Given the description of an element on the screen output the (x, y) to click on. 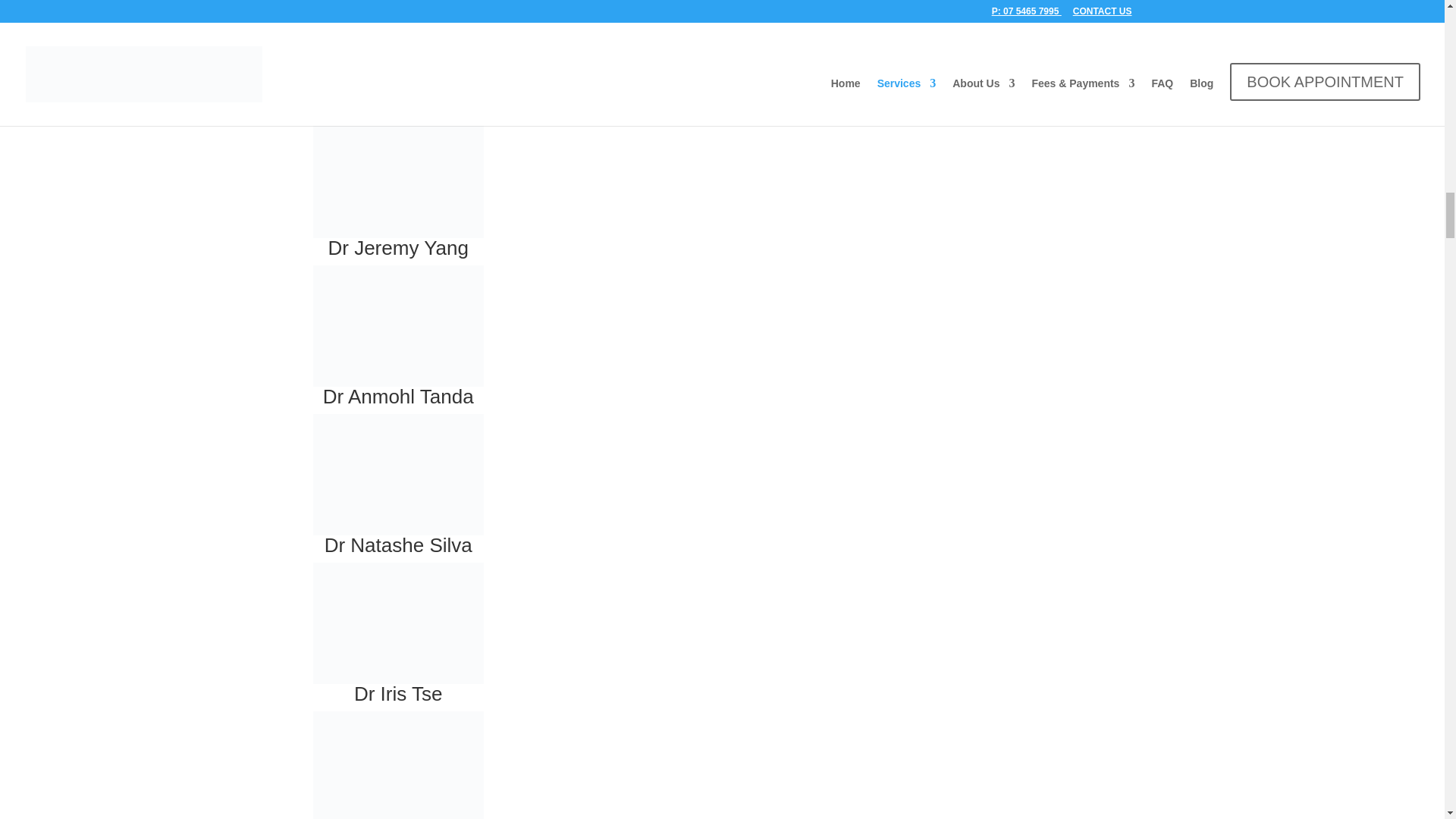
Dr Jeremy Yang (397, 247)
Dr Andrea Ho (398, 44)
Dr Jeremy Yang (398, 177)
Dr Andrea Ho (397, 98)
Dr Anmohl Tanda (398, 325)
